Given the description of an element on the screen output the (x, y) to click on. 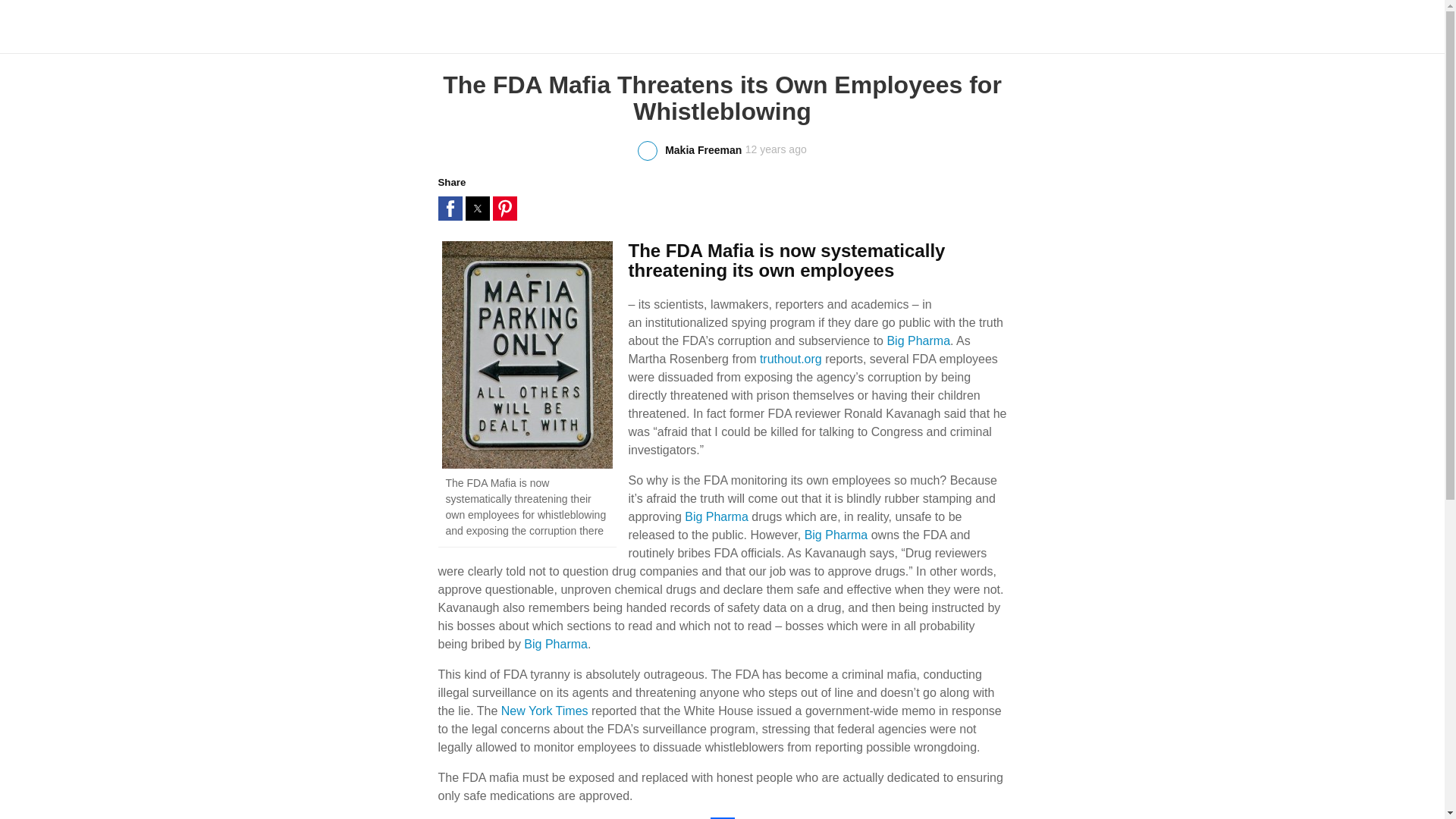
Big Pharma (716, 516)
Big Pharma (836, 534)
Big Pharma (918, 340)
truthout.org (791, 358)
Big Pharma (556, 644)
New York Times (544, 710)
